Given the description of an element on the screen output the (x, y) to click on. 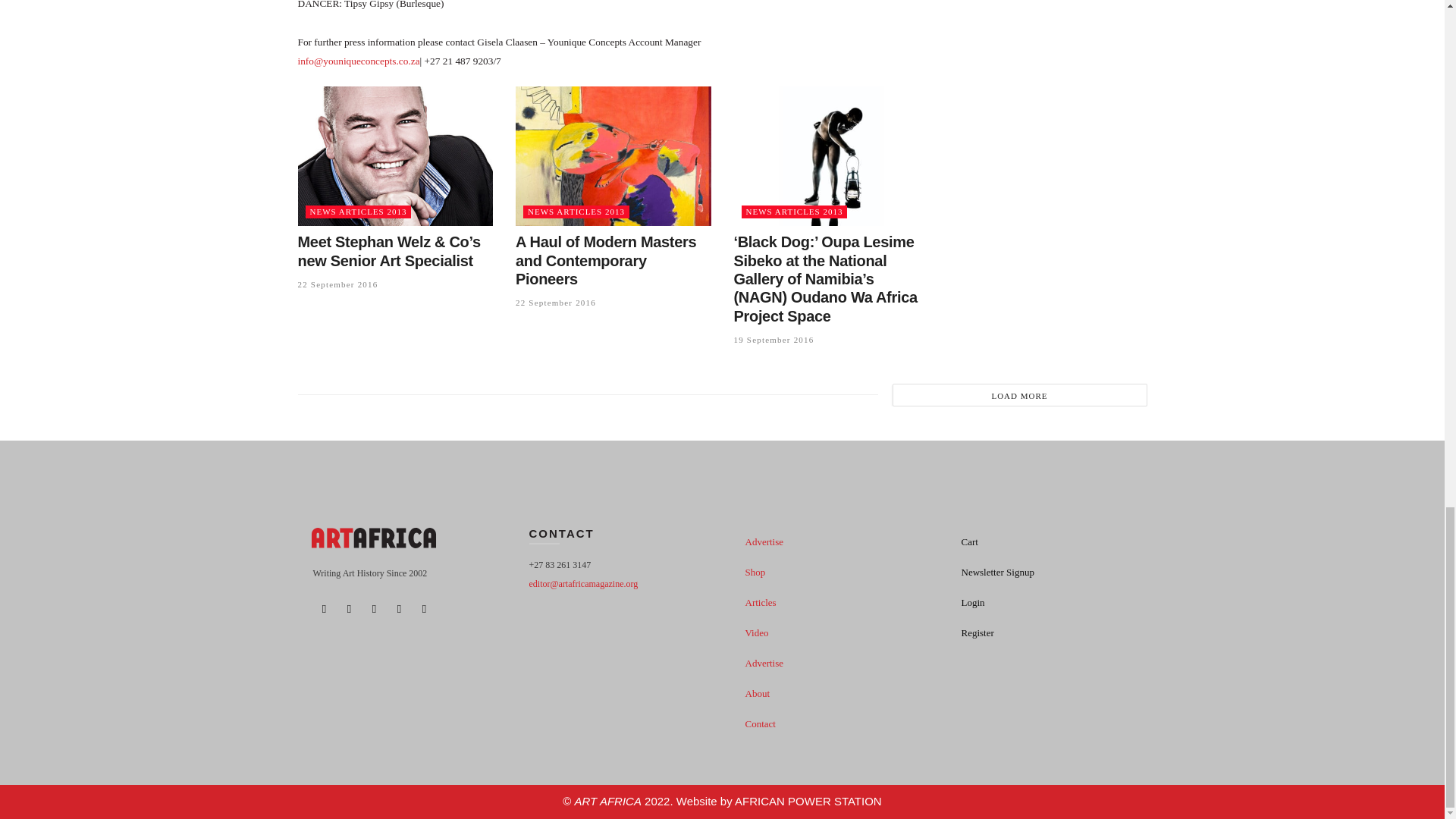
NEWS ARTICLES 2013 (357, 211)
NEWS ARTICLES 2013 (794, 211)
22 September 2016 (555, 302)
A Haul of Modern Masters and Contemporary Pioneers (605, 260)
22 September 2016 (337, 284)
NEWS ARTICLES 2013 (575, 211)
